Given the description of an element on the screen output the (x, y) to click on. 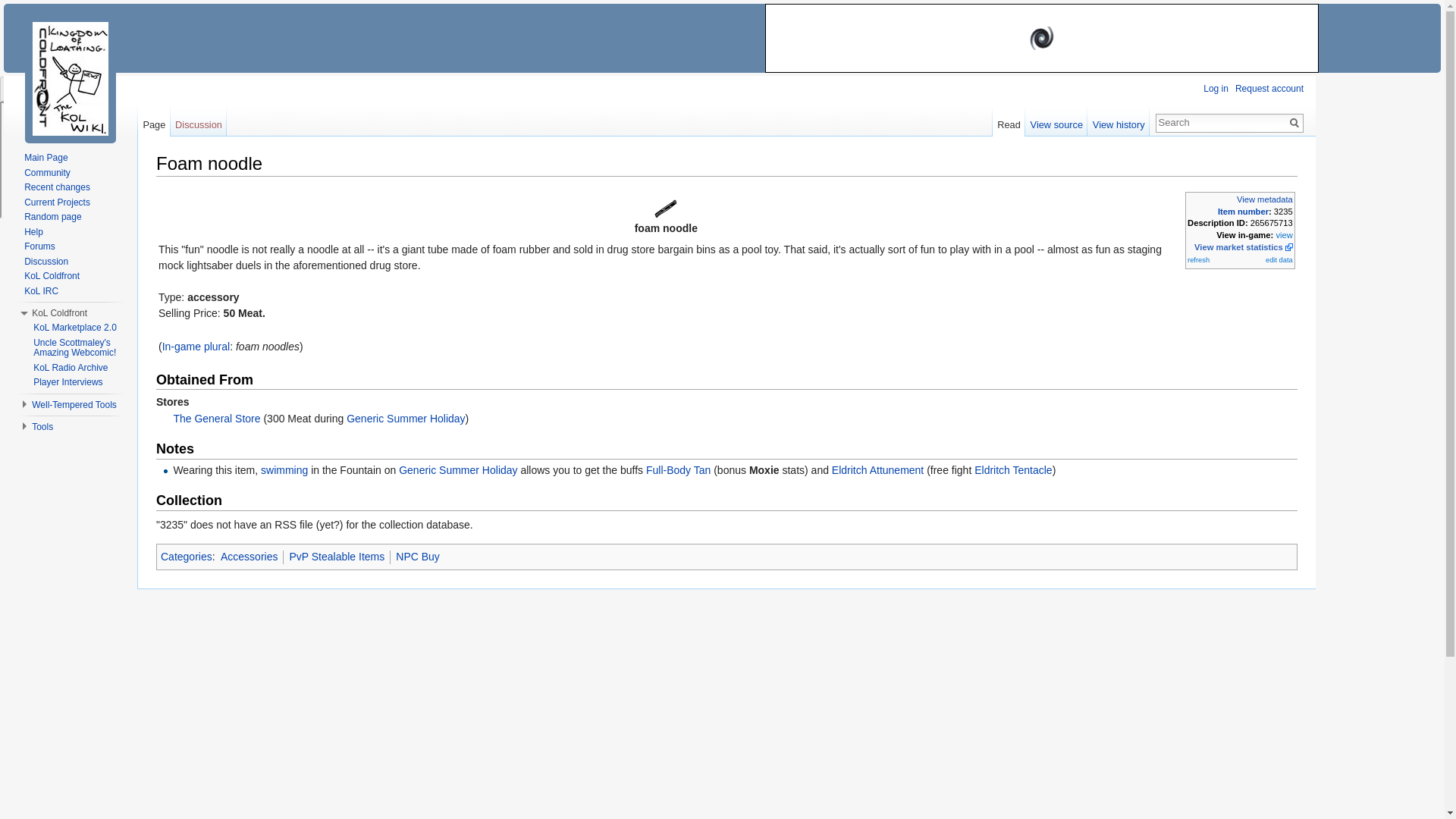
Go (1294, 122)
Page (154, 121)
Category:PvP Stealable Items (336, 556)
Eldritch Attunement (877, 469)
Go (1294, 122)
Generic Summer Holiday (457, 469)
Accessories (249, 556)
In-game plural (195, 346)
Community (46, 172)
refresh (1198, 259)
Help (33, 231)
Eldritch Attunement (877, 469)
swimming (283, 469)
Special:Categories (186, 556)
View metadata (1264, 198)
